Given the description of an element on the screen output the (x, y) to click on. 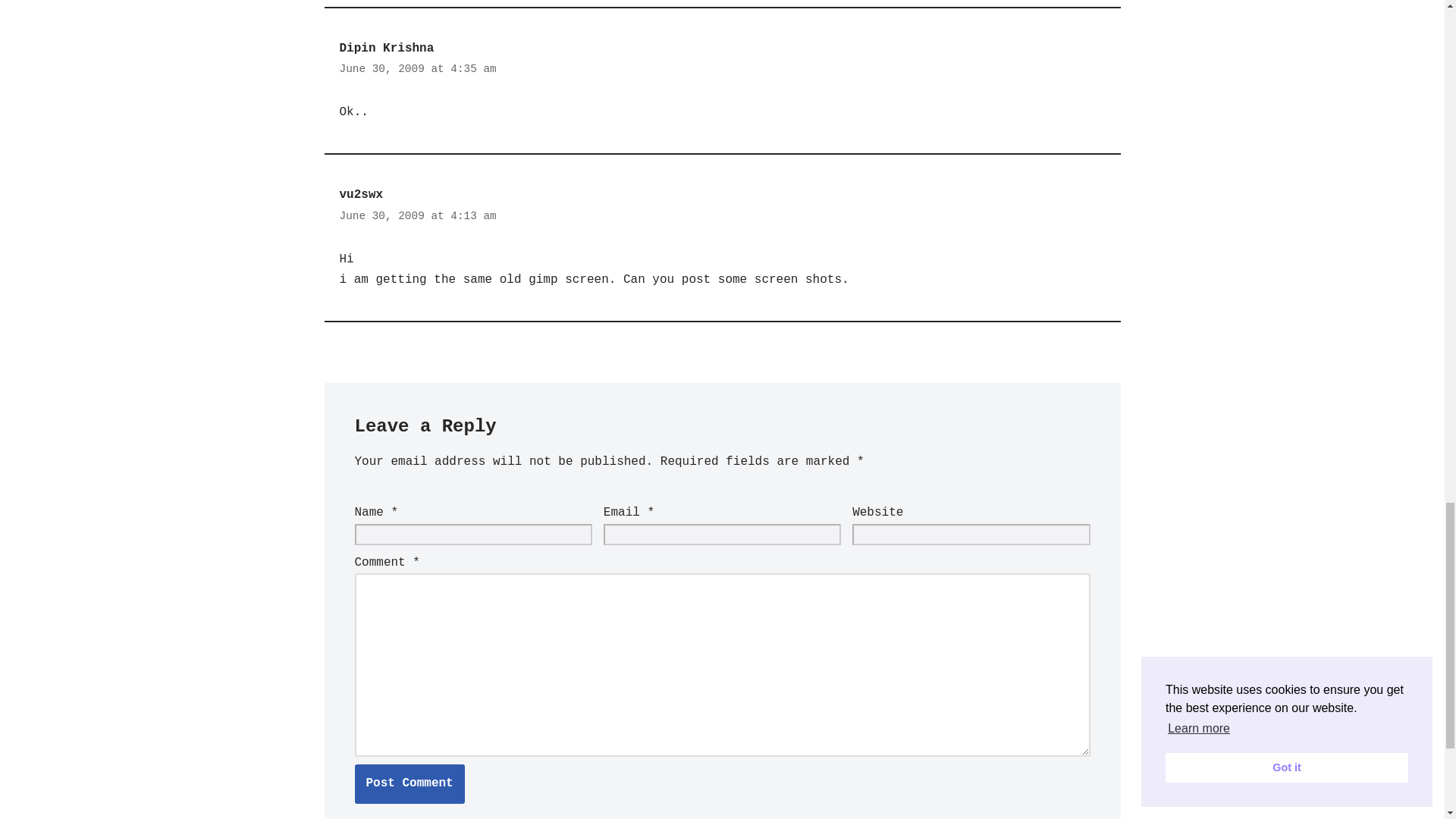
June 30, 2009 at 4:13 am (417, 216)
June 30, 2009 at 4:35 am (417, 68)
Post Comment (409, 783)
Post Comment (409, 783)
